Given the description of an element on the screen output the (x, y) to click on. 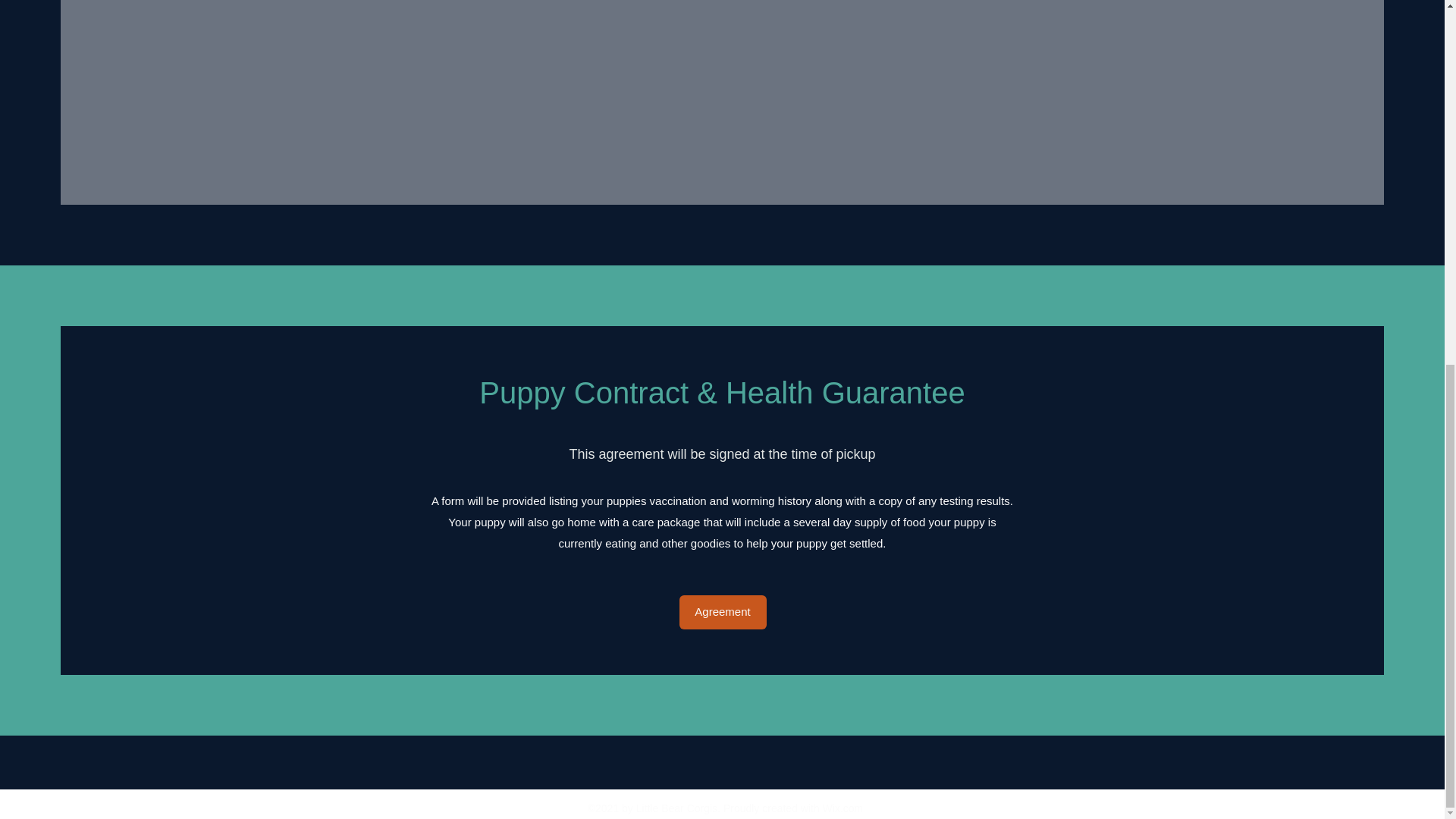
Agreement (723, 612)
